Given the description of an element on the screen output the (x, y) to click on. 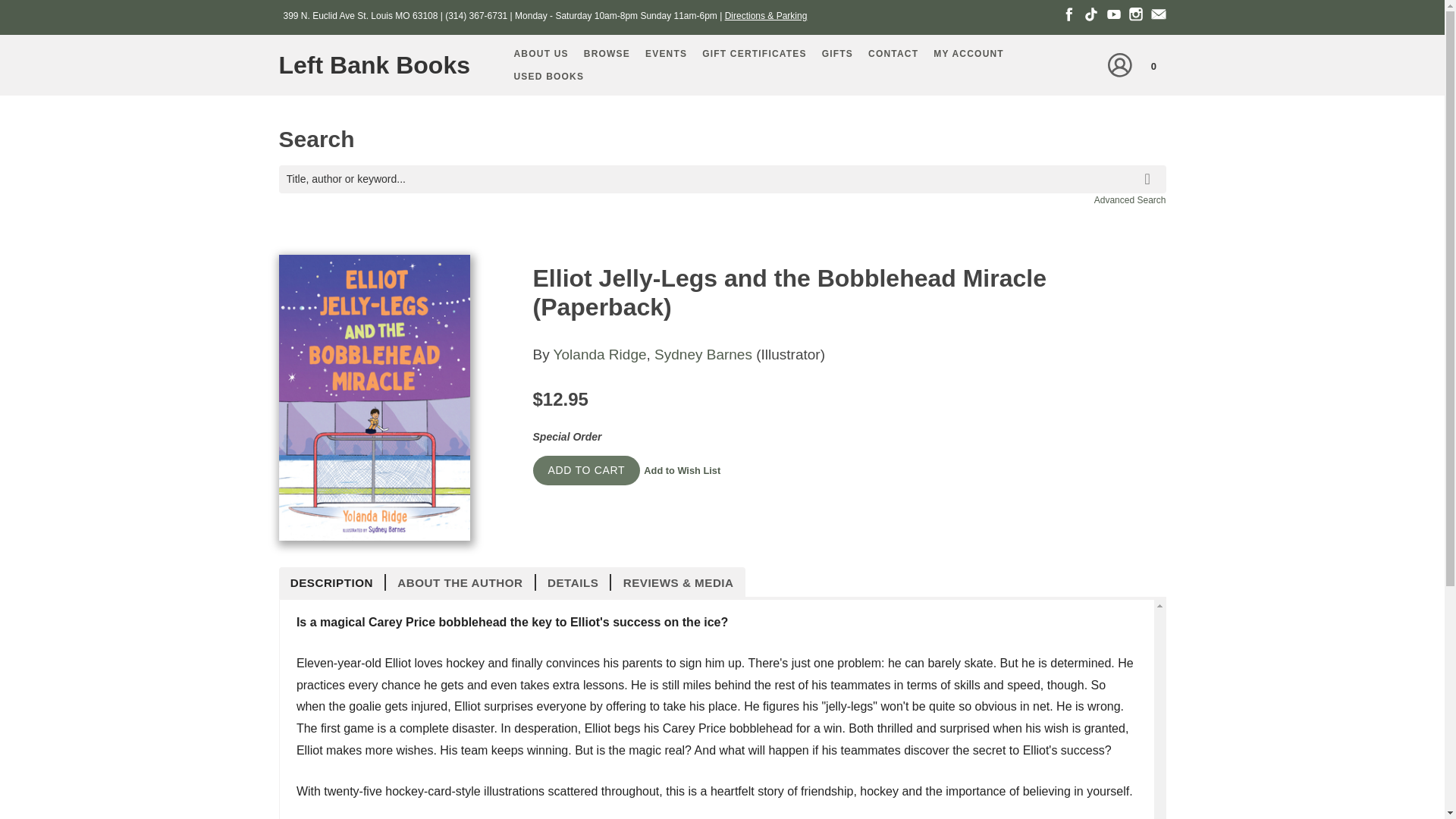
GIFT CERTIFICATES (753, 53)
Left Bank Books (381, 64)
EVENTS (665, 53)
ABOUT US (541, 53)
BROWSE (606, 53)
Title, author or keyword... (722, 179)
Home (381, 64)
GIFTS (836, 53)
T-Shirts, Gifts and More (836, 53)
